Given the description of an element on the screen output the (x, y) to click on. 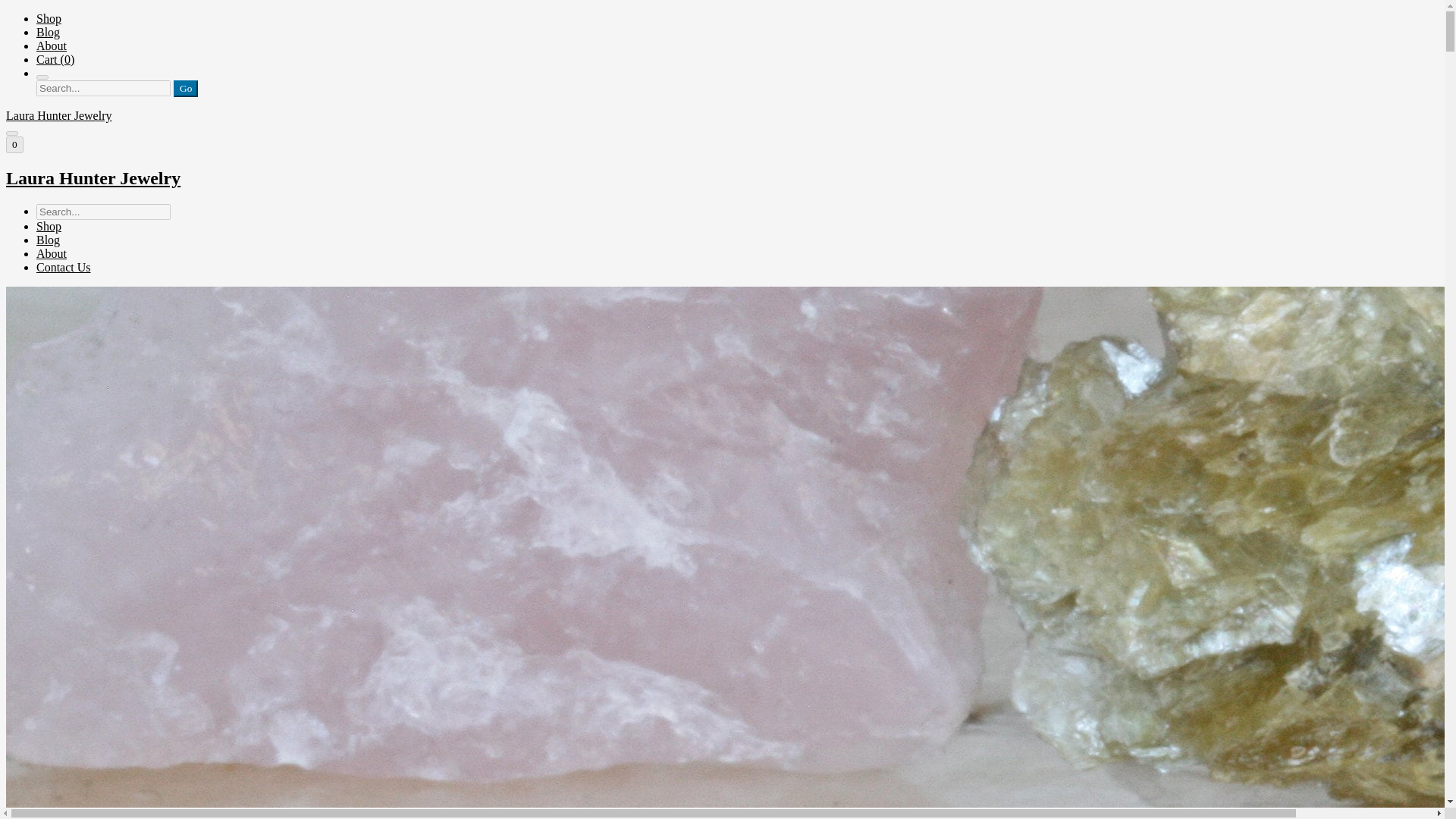
0 (14, 144)
Shop (48, 18)
Go (185, 88)
About (51, 45)
Blog (47, 31)
Contact Us (63, 267)
Shop (48, 226)
About (51, 253)
Laura Hunter Jewelry (721, 178)
Go (185, 88)
Blog (47, 239)
